Given the description of an element on the screen output the (x, y) to click on. 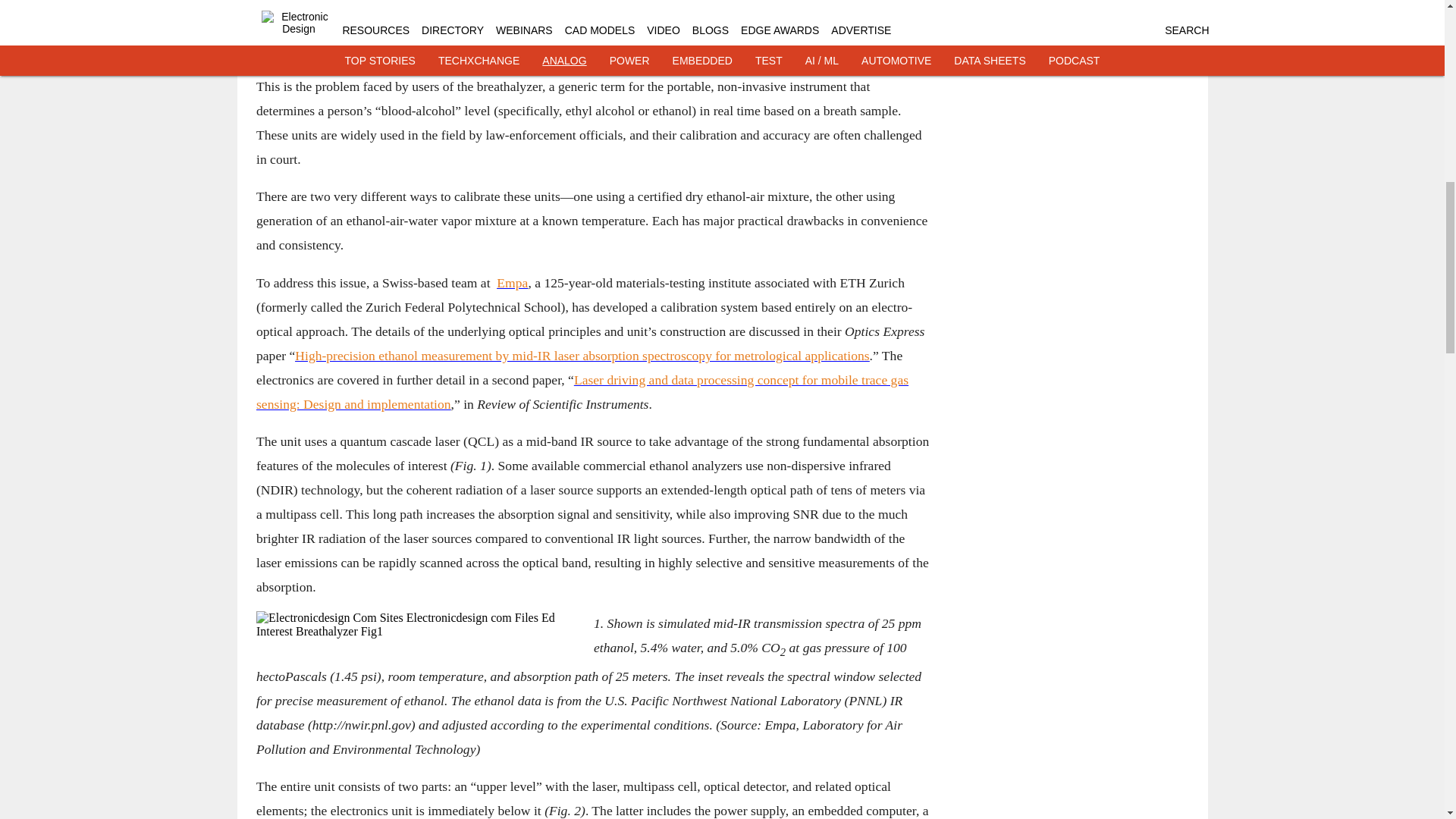
Empa (511, 282)
